Given the description of an element on the screen output the (x, y) to click on. 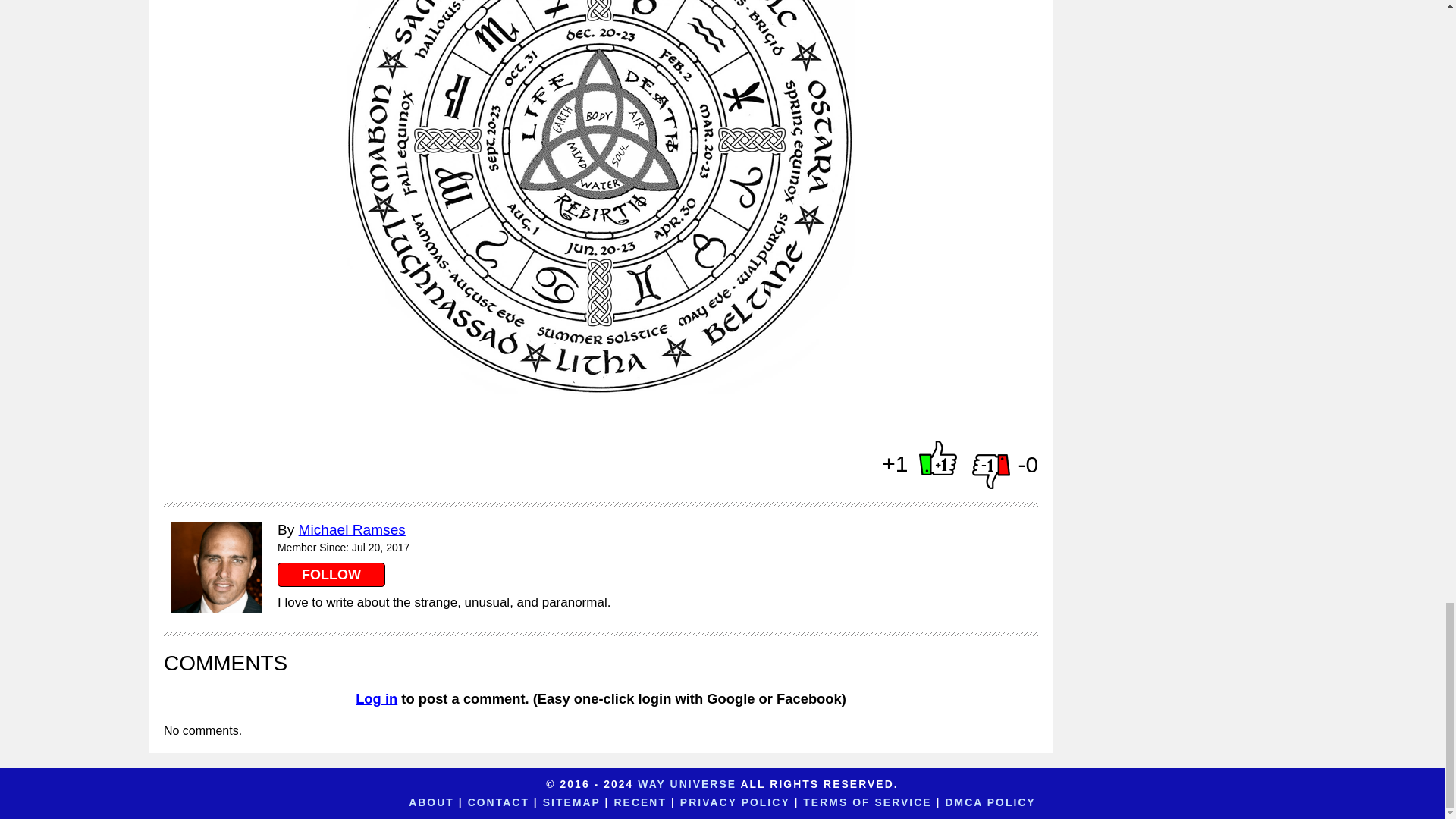
Michael Ramses (352, 529)
FOLLOW (331, 574)
Log in (376, 698)
